Given the description of an element on the screen output the (x, y) to click on. 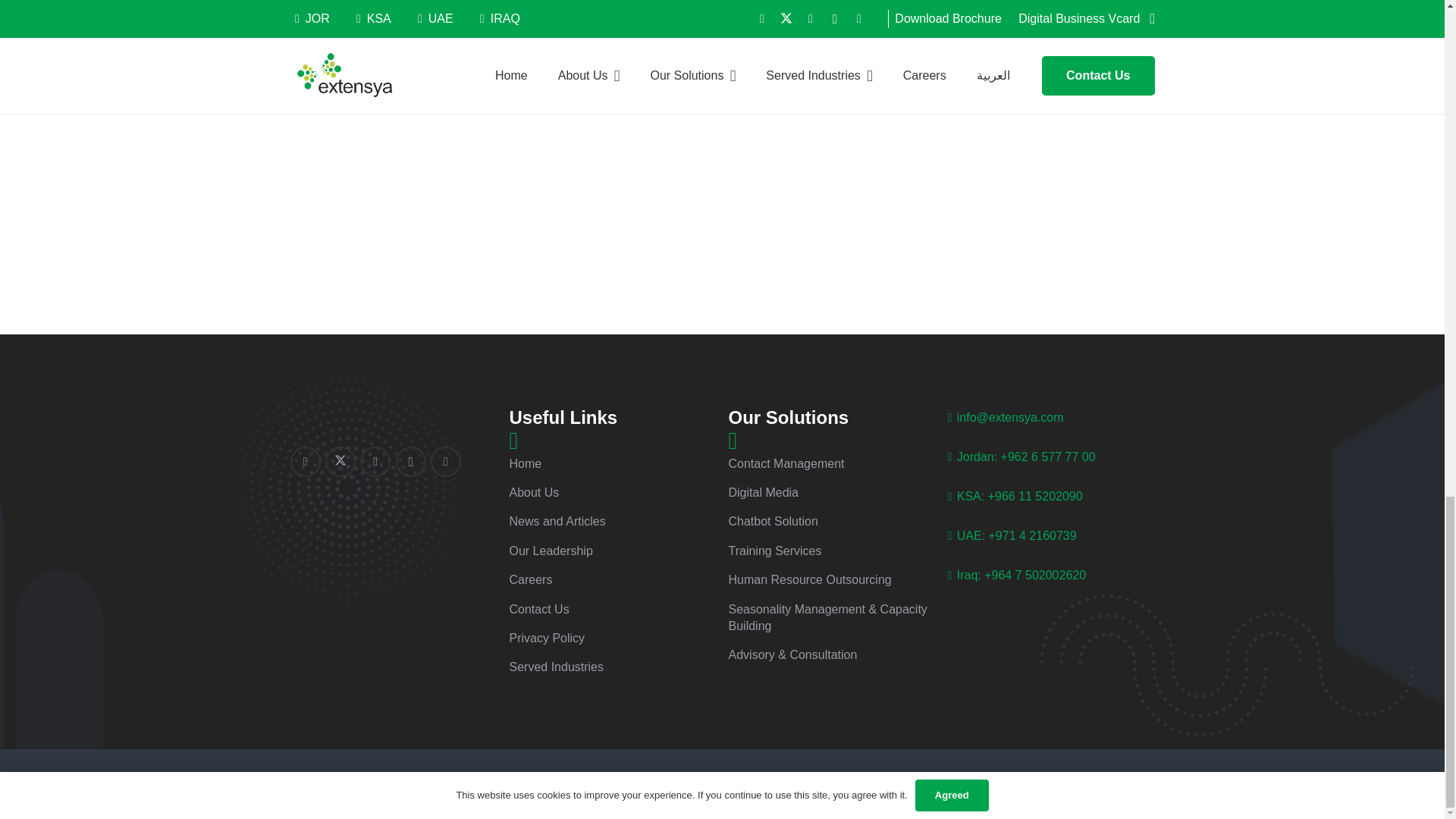
LinkedIn (374, 461)
Twitter (339, 461)
Facebook (304, 461)
Instagram (411, 461)
YouTube (445, 461)
